Given the description of an element on the screen output the (x, y) to click on. 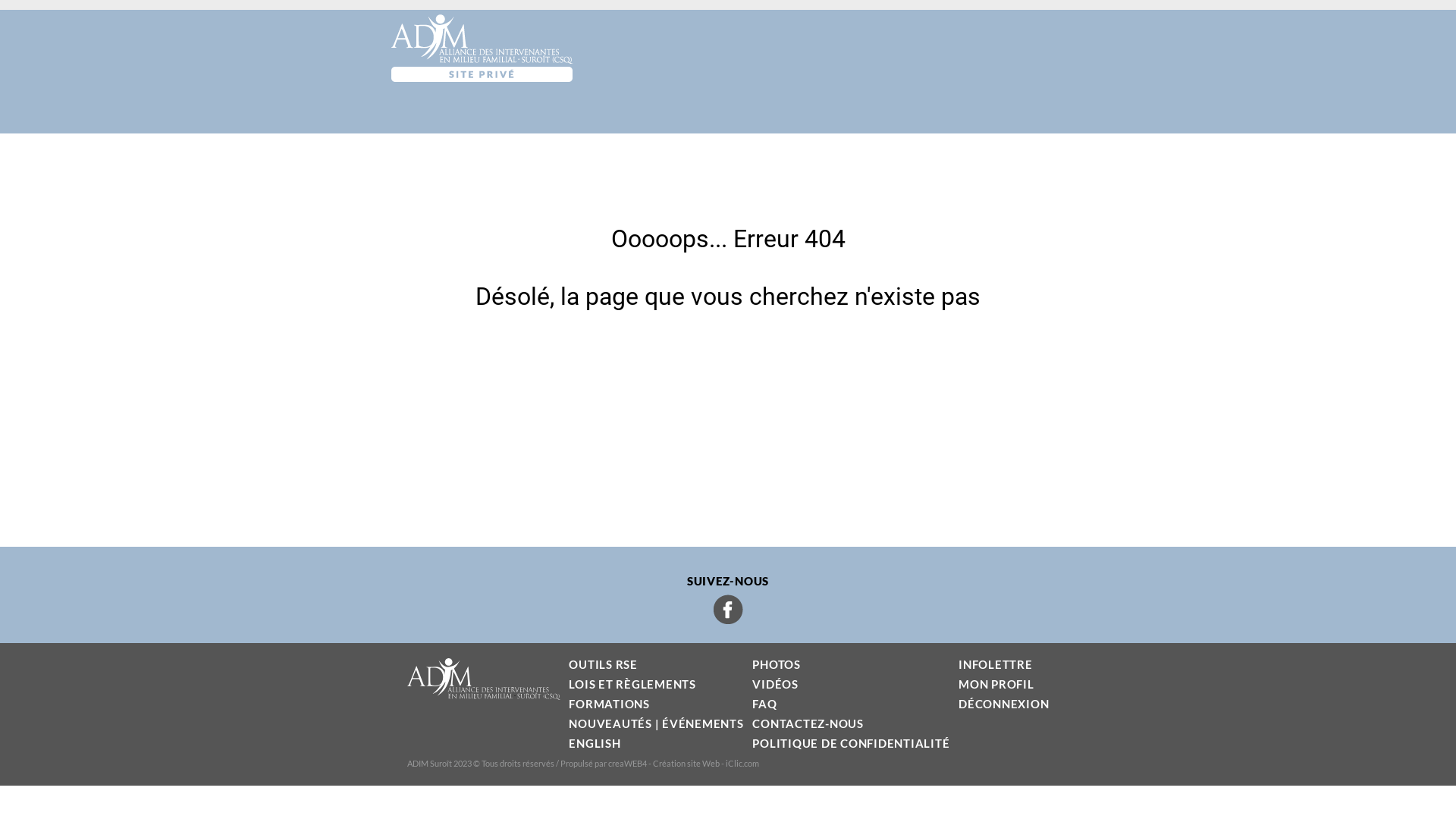
CONTACTEZ-NOUS Element type: text (807, 723)
INFOLETTRE Element type: text (995, 664)
FAQ Element type: text (764, 703)
PHOTOS Element type: text (776, 664)
OUTILS RSE Element type: text (602, 664)
FORMATIONS Element type: text (608, 703)
MON PROFIL Element type: text (996, 683)
ENGLISH Element type: text (594, 742)
facebook Element type: text (727, 609)
